Given the description of an element on the screen output the (x, y) to click on. 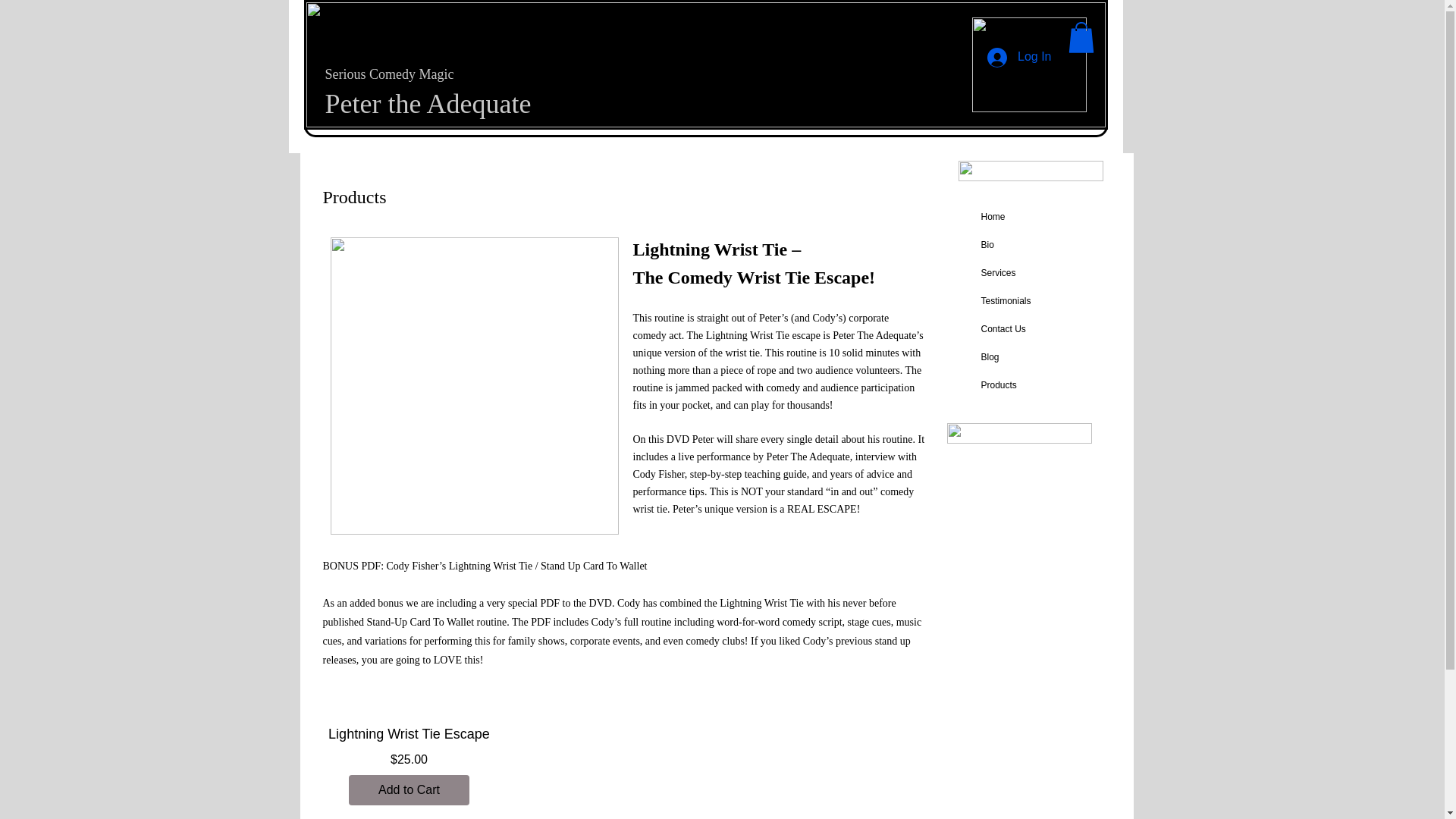
Home (993, 216)
Bio (987, 244)
Log In (1018, 57)
Blog (990, 356)
Products (999, 385)
Contact Us (1003, 329)
Testimonials (1006, 300)
Add to Cart (409, 789)
Services (998, 272)
